Given the description of an element on the screen output the (x, y) to click on. 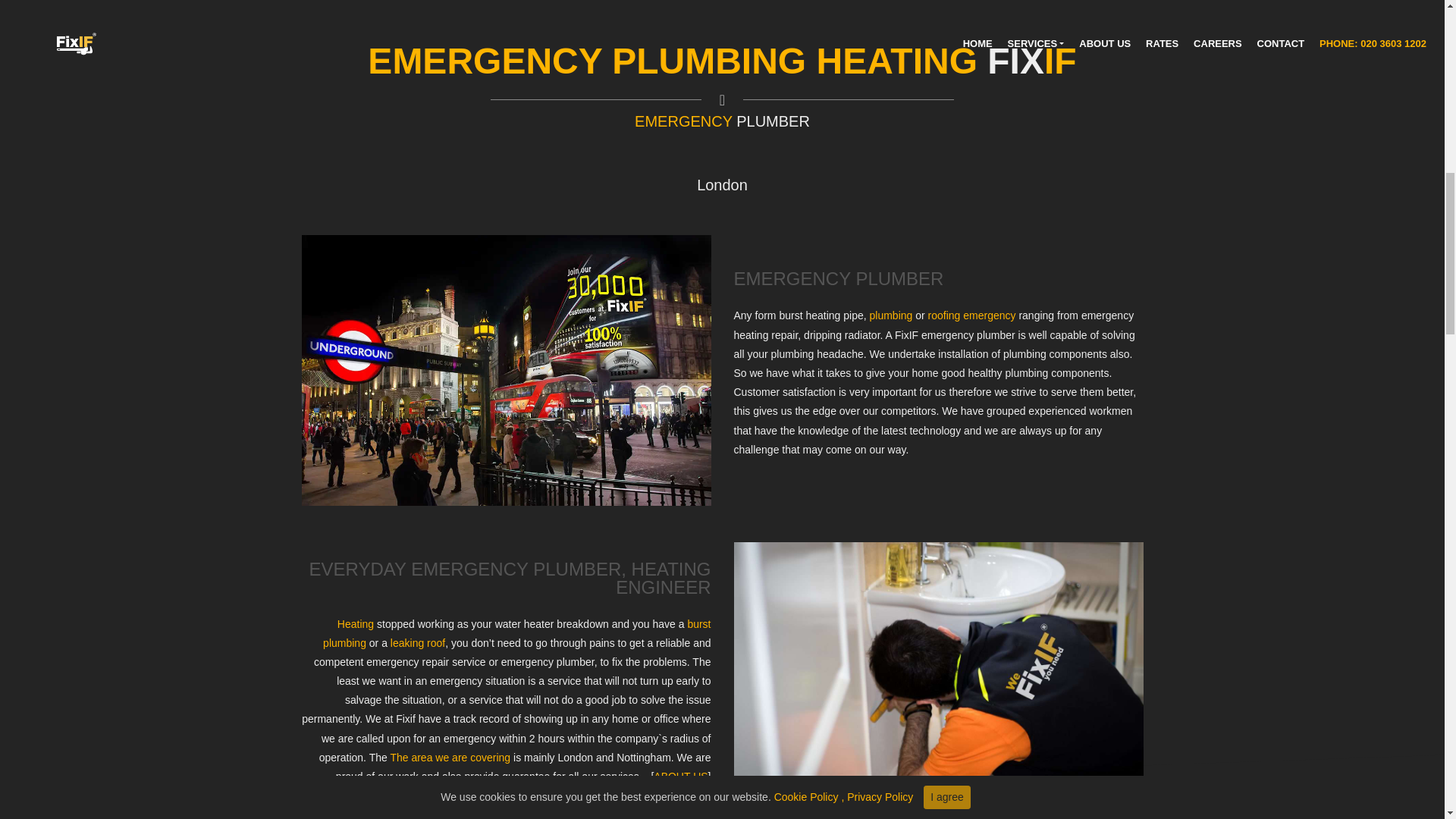
Go to roofing services (972, 315)
leaking roof (417, 643)
plumbing (890, 315)
Heating (355, 623)
The area we are covering (451, 757)
burst plumbing (516, 633)
Go to roofing services (417, 643)
roofing emergency (972, 315)
Find out more about us (680, 776)
ABOUT US (680, 776)
